Given the description of an element on the screen output the (x, y) to click on. 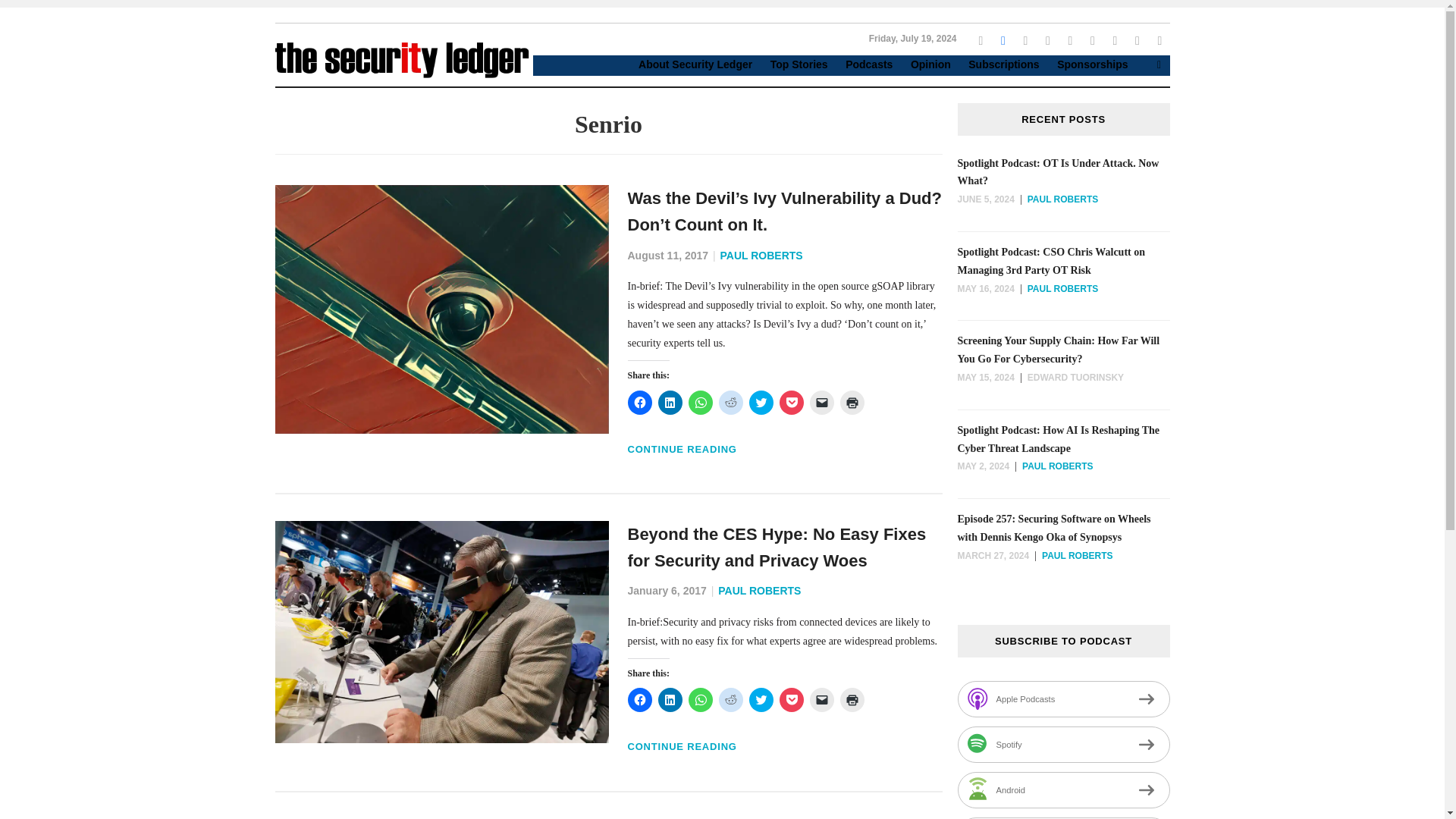
rss (1025, 39)
SUBSCRIPTIONS (147, 151)
Default Label (1137, 39)
twitter (980, 39)
podcast (1137, 39)
Friend me on Facebook (980, 39)
youtube (1069, 39)
Instagram (1025, 39)
linkedin (1047, 39)
Search (1158, 64)
soundcloud (1115, 39)
Default Label (1092, 39)
ABOUT SECURITY LEDGER (147, 30)
facebook (1002, 39)
Top Stories (791, 64)
